Given the description of an element on the screen output the (x, y) to click on. 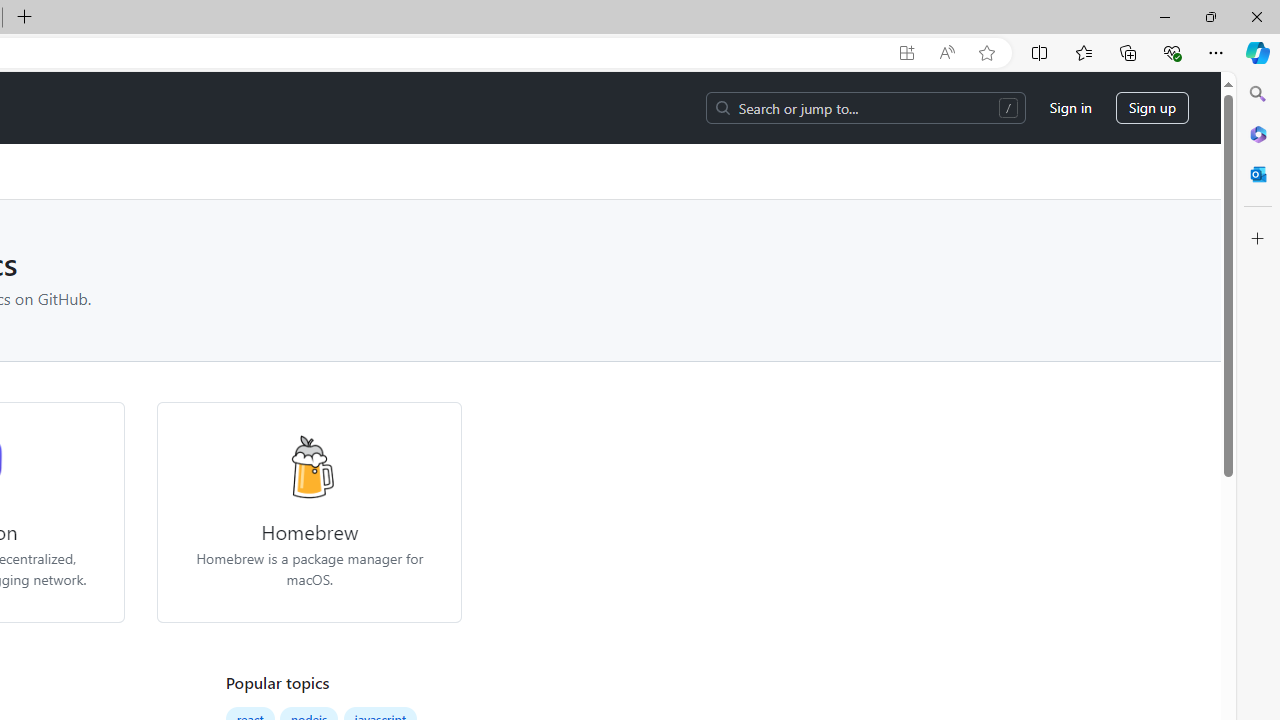
homebrew (308, 466)
HomebrewHomebrew is a package manager for macOS. (309, 511)
